Given the description of an element on the screen output the (x, y) to click on. 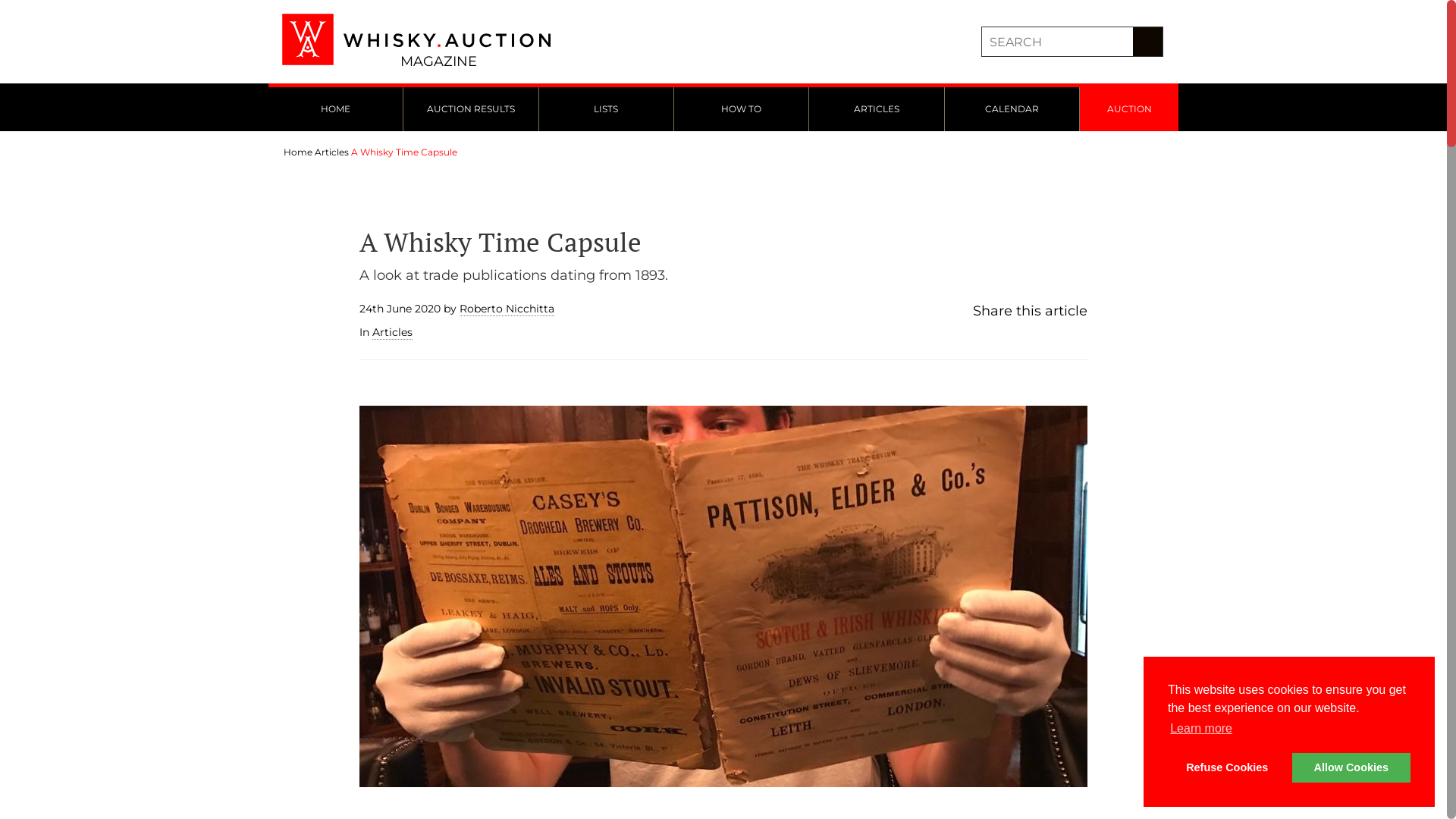
Share this via Facebook Element type: hover (976, 336)
AUCTION RESULTS Element type: text (470, 109)
CALENDAR Element type: text (1011, 109)
Home Element type: text (297, 151)
Share this via Email Element type: hover (1006, 336)
Share this via More Element type: hover (1022, 336)
MAGAZINE Element type: text (418, 41)
AUCTION Element type: text (1128, 109)
Articles Element type: text (392, 332)
ARTICLES Element type: text (876, 109)
Learn more Element type: text (1200, 728)
Share this via Twitter Element type: hover (991, 336)
Refuse Cookies Element type: text (1226, 767)
on Element type: text (4, 4)
Roberto Nicchitta Element type: text (506, 308)
Articles Element type: text (331, 151)
HOW TO Element type: text (741, 109)
LISTS Element type: text (606, 109)
Search Element type: hover (1147, 41)
Allow Cookies Element type: text (1351, 767)
HOME Element type: text (335, 109)
